Given the description of an element on the screen output the (x, y) to click on. 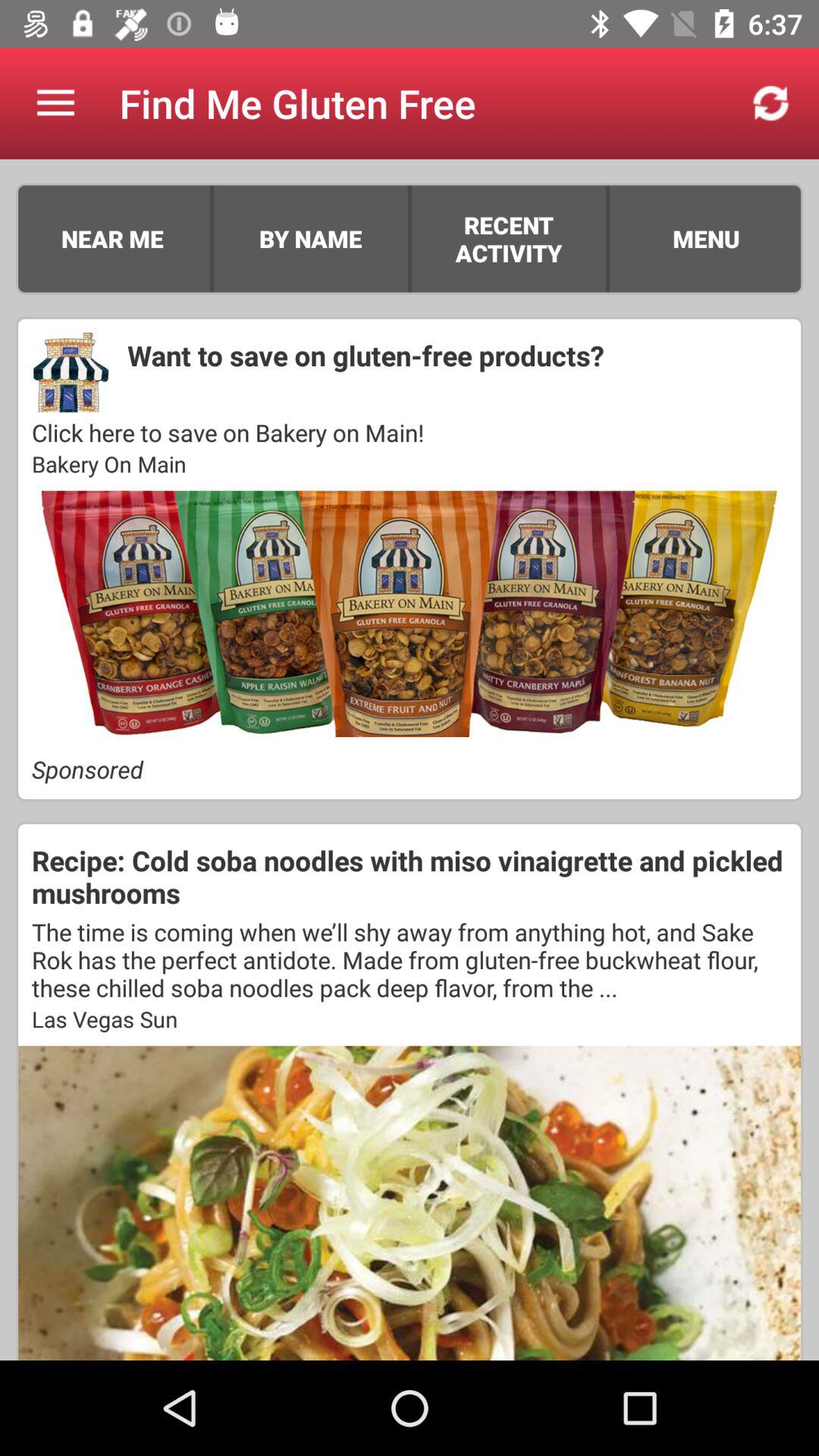
scroll to recent activity (508, 238)
